Given the description of an element on the screen output the (x, y) to click on. 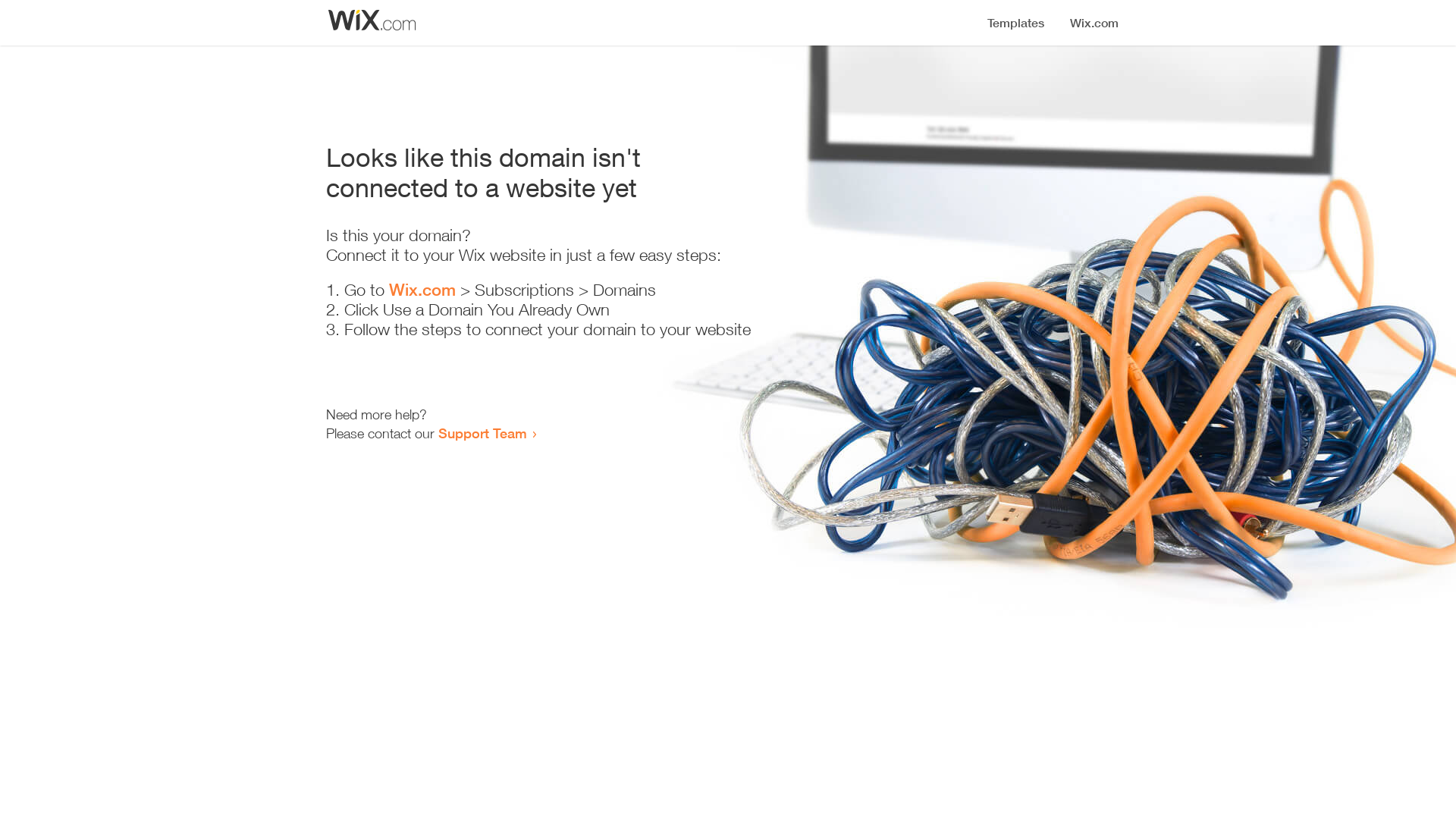
Wix.com Element type: text (422, 289)
Support Team Element type: text (482, 432)
